Given the description of an element on the screen output the (x, y) to click on. 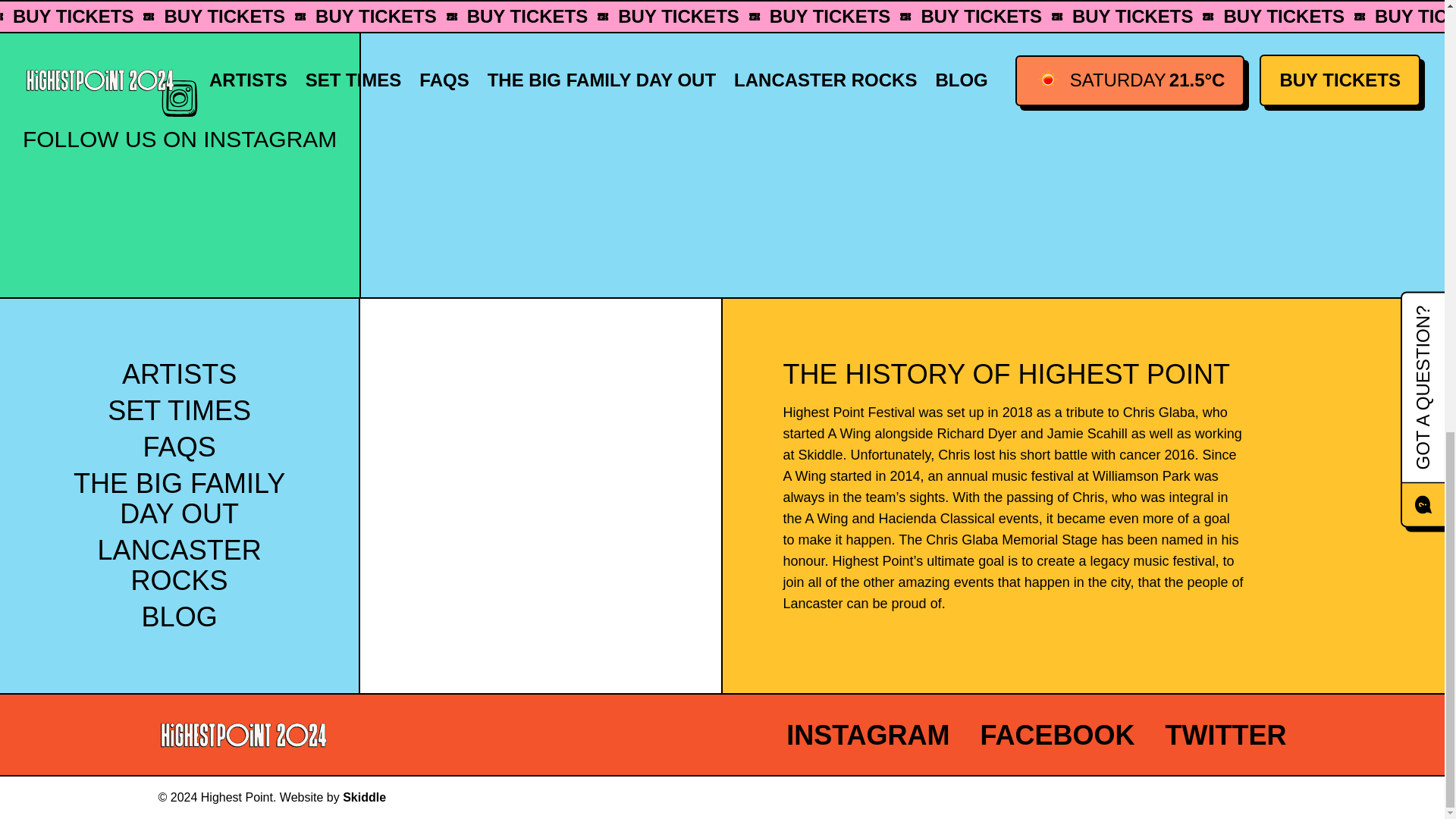
SET TIMES (178, 409)
BLOG (178, 616)
LANCASTER ROCKS (179, 565)
TWITTER (1226, 735)
ARTISTS (178, 373)
FACEBOOK (1057, 735)
FAQS (178, 446)
INSTAGRAM (867, 735)
HP 23 Wordmark Off White (243, 735)
Skiddle (363, 797)
